Given the description of an element on the screen output the (x, y) to click on. 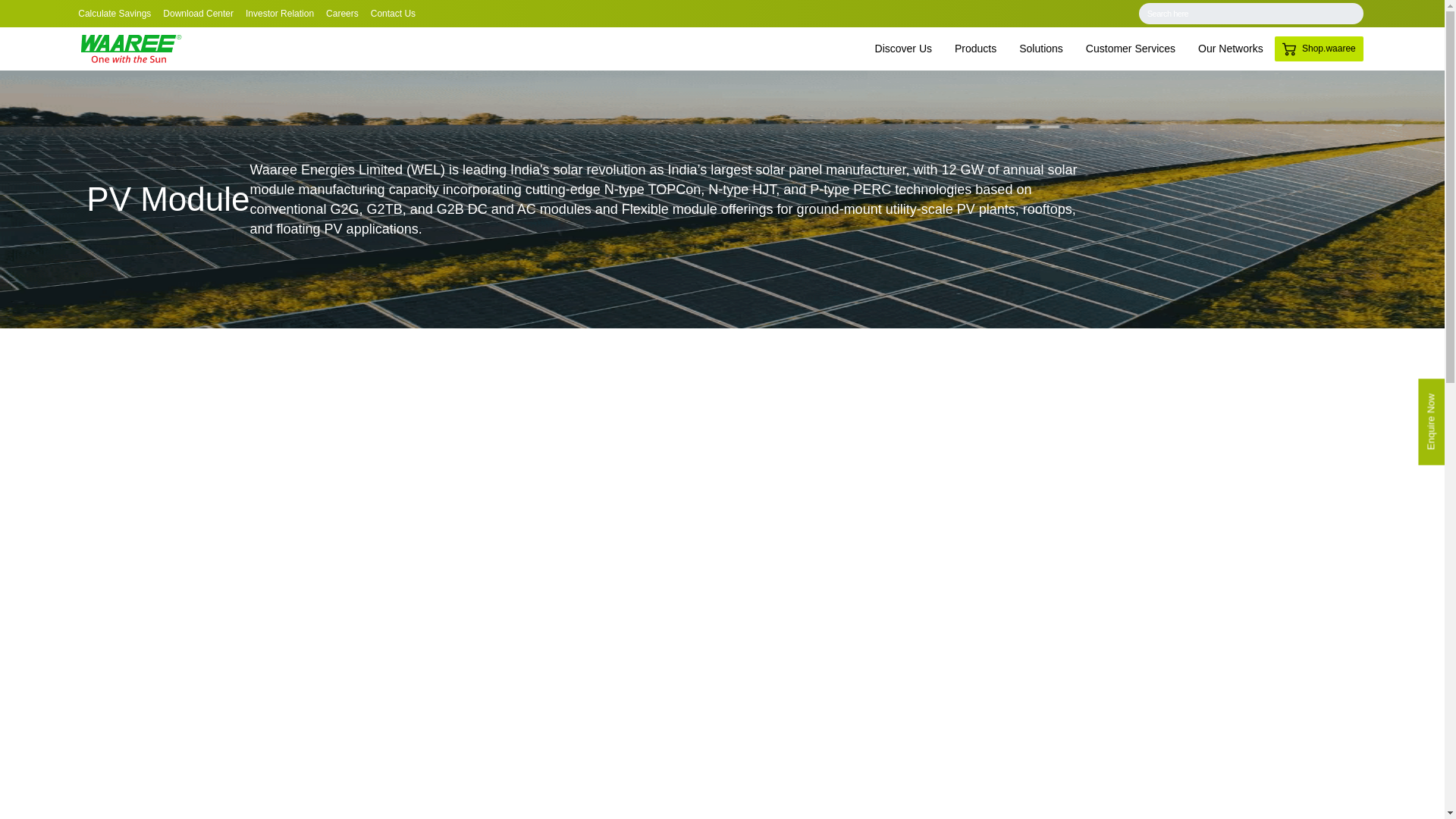
Careers (342, 13)
Calculate Savings (114, 13)
Shop.waaree (1318, 48)
Download Center (197, 13)
Investor Relation (280, 13)
Discover Us (903, 48)
Products (975, 48)
Customer Services (1130, 48)
Our Networks (1230, 48)
Solutions (1040, 48)
Contact Us (392, 13)
